Given the description of an element on the screen output the (x, y) to click on. 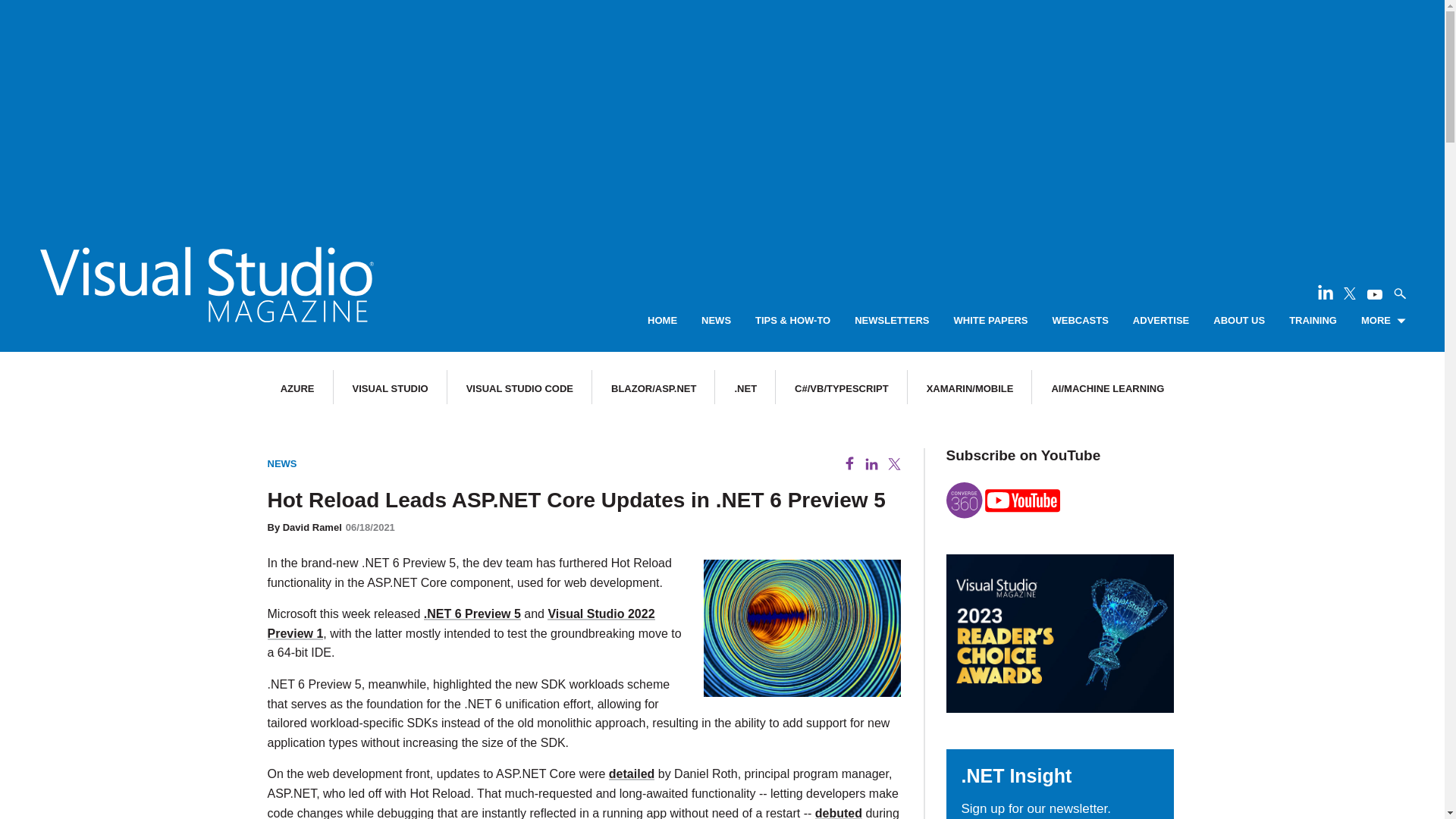
HOME (662, 320)
NEWSLETTERS (891, 320)
VISUAL STUDIO CODE (519, 388)
AZURE (297, 388)
.NET (745, 388)
ABOUT US (1238, 320)
WEBCASTS (1079, 320)
WHITE PAPERS (990, 320)
TRAINING (1312, 320)
